Given the description of an element on the screen output the (x, y) to click on. 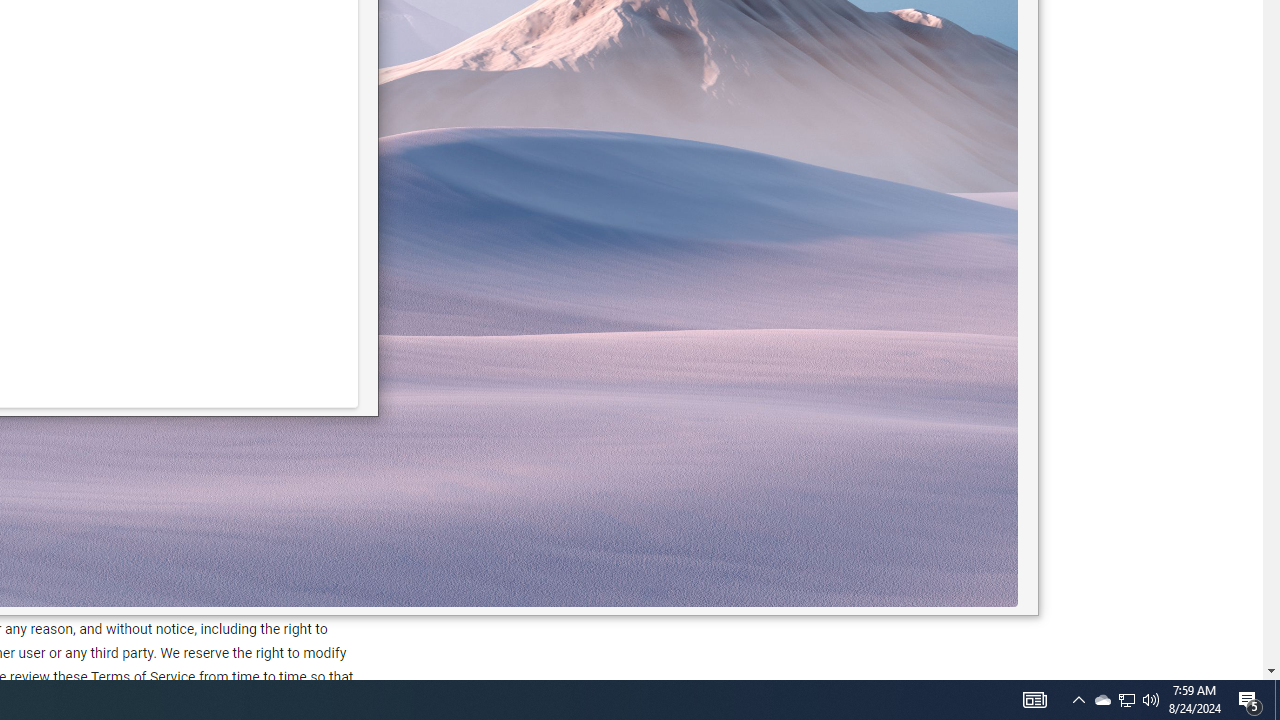
Notification Chevron (1126, 699)
Q2790: 100% (1102, 699)
Show desktop (1078, 699)
AutomationID: 4105 (1151, 699)
Action Center, 5 new notifications (1277, 699)
User Promoted Notification Area (1034, 699)
